Given the description of an element on the screen output the (x, y) to click on. 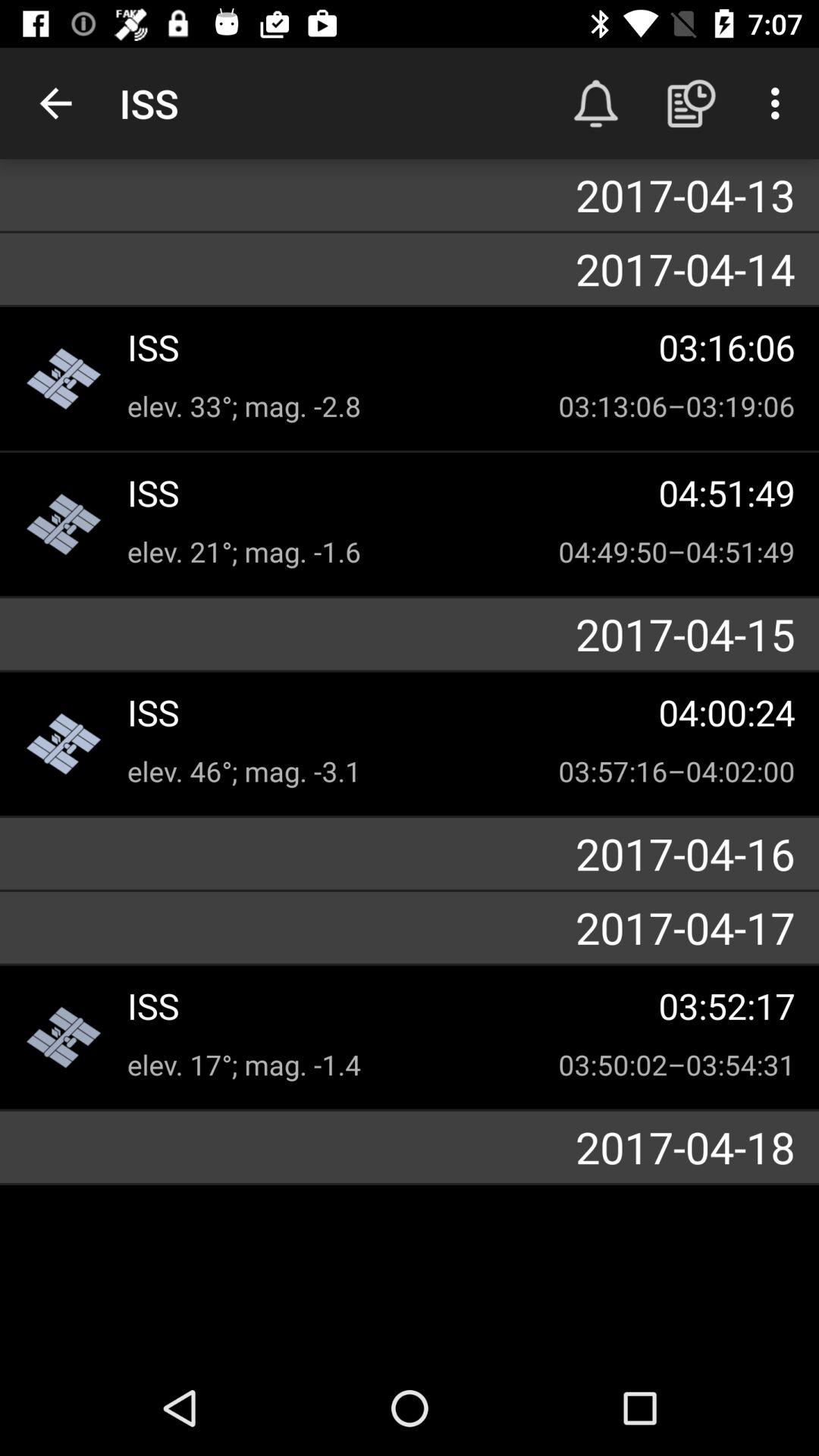
turn off the icon above 2017-04-13 item (595, 103)
